Given the description of an element on the screen output the (x, y) to click on. 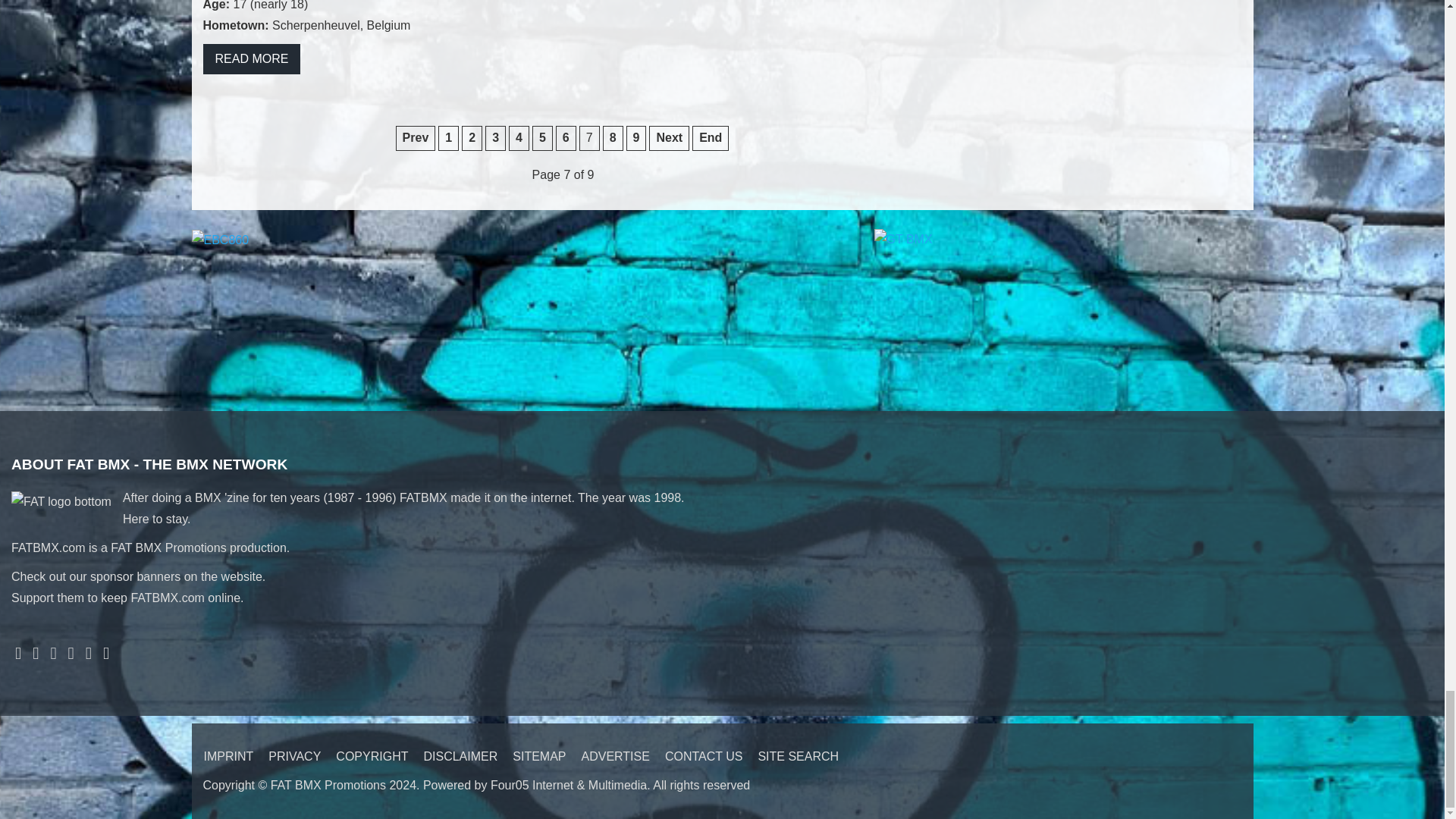
Four05 Internet Oldenzaal (568, 784)
Prev (415, 138)
EBC860 (219, 238)
End (711, 138)
Next (668, 138)
